Given the description of an element on the screen output the (x, y) to click on. 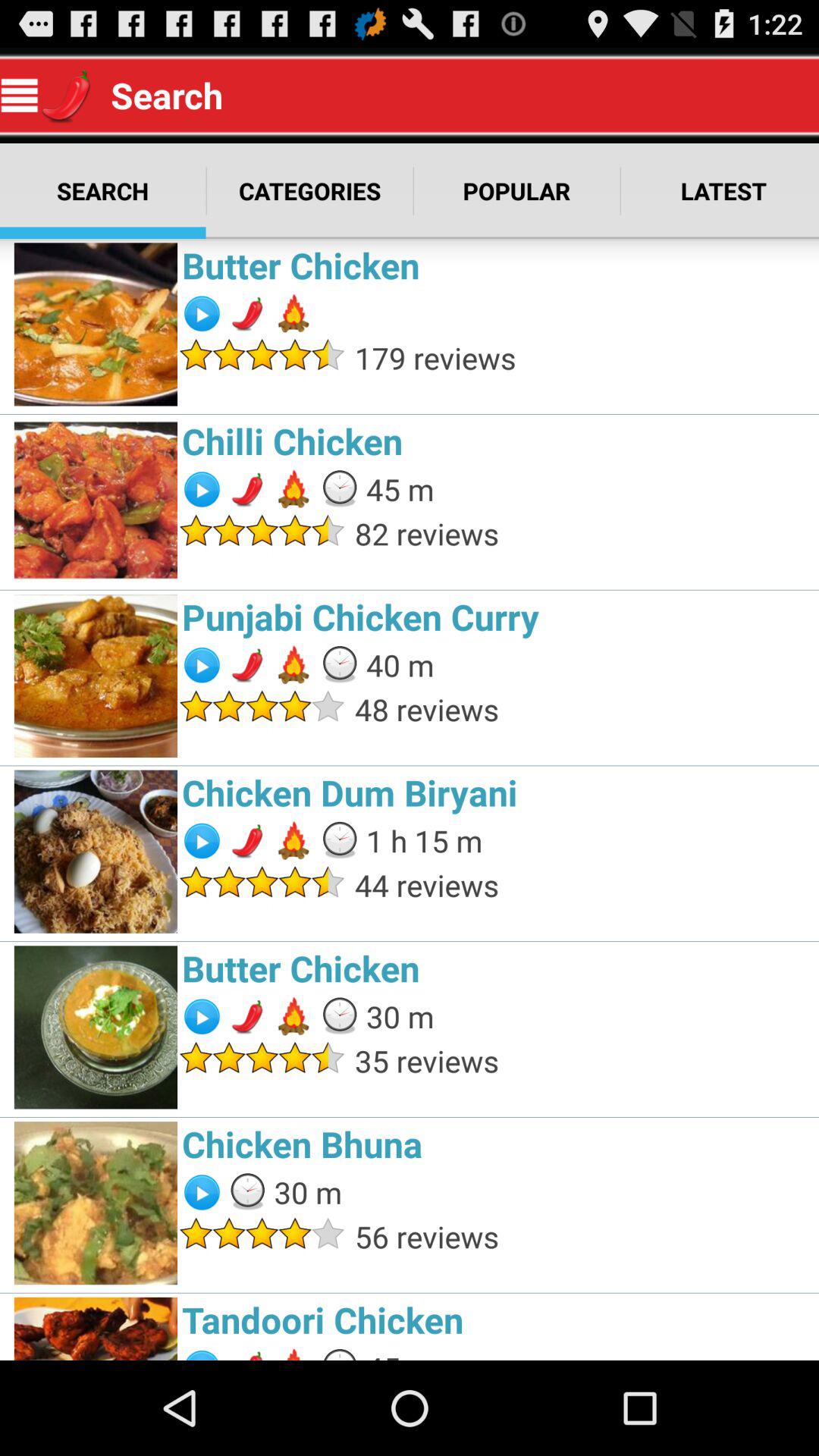
flip until 1 h 15 (424, 840)
